Given the description of an element on the screen output the (x, y) to click on. 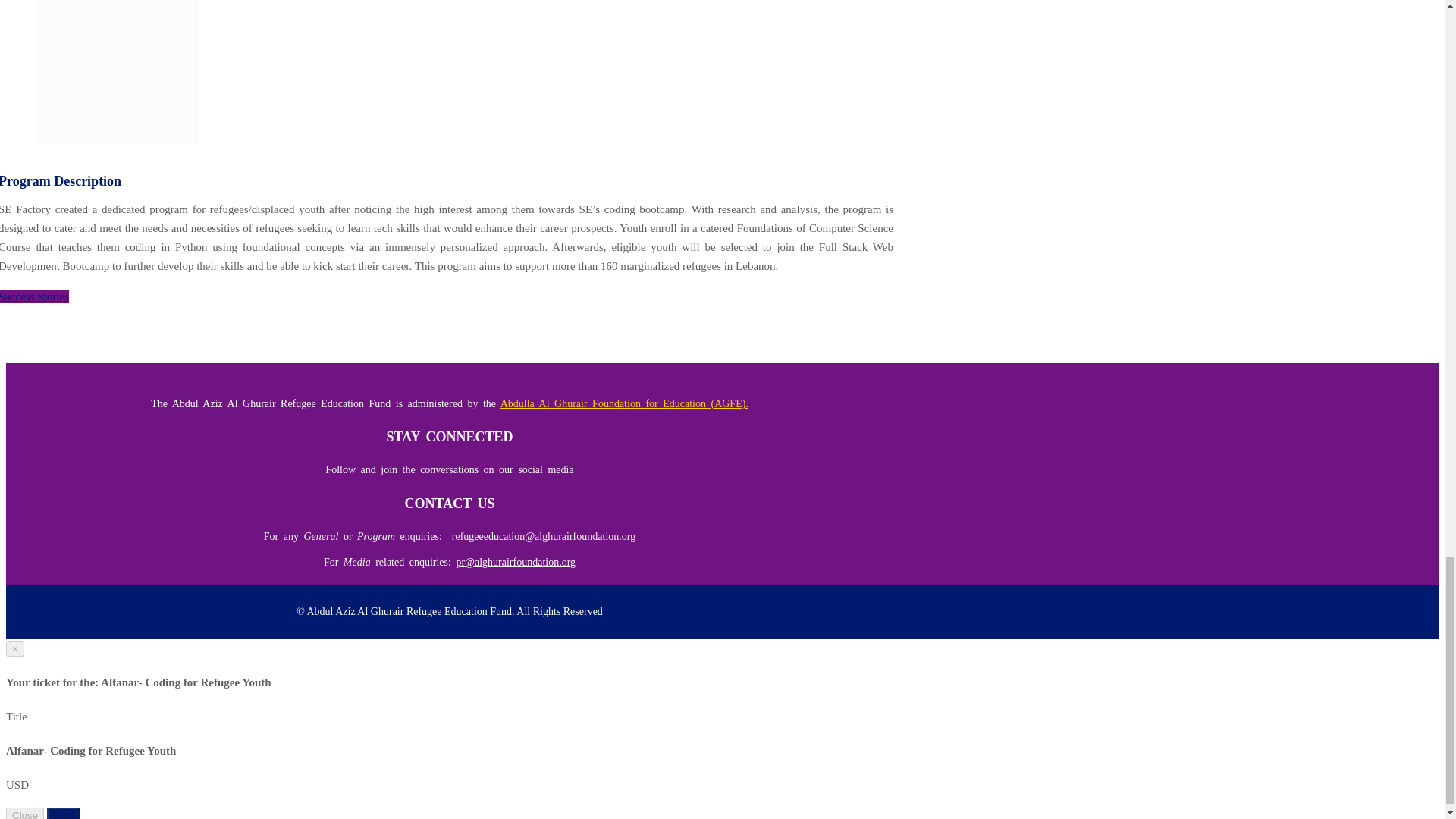
Success Stories (34, 296)
